Given the description of an element on the screen output the (x, y) to click on. 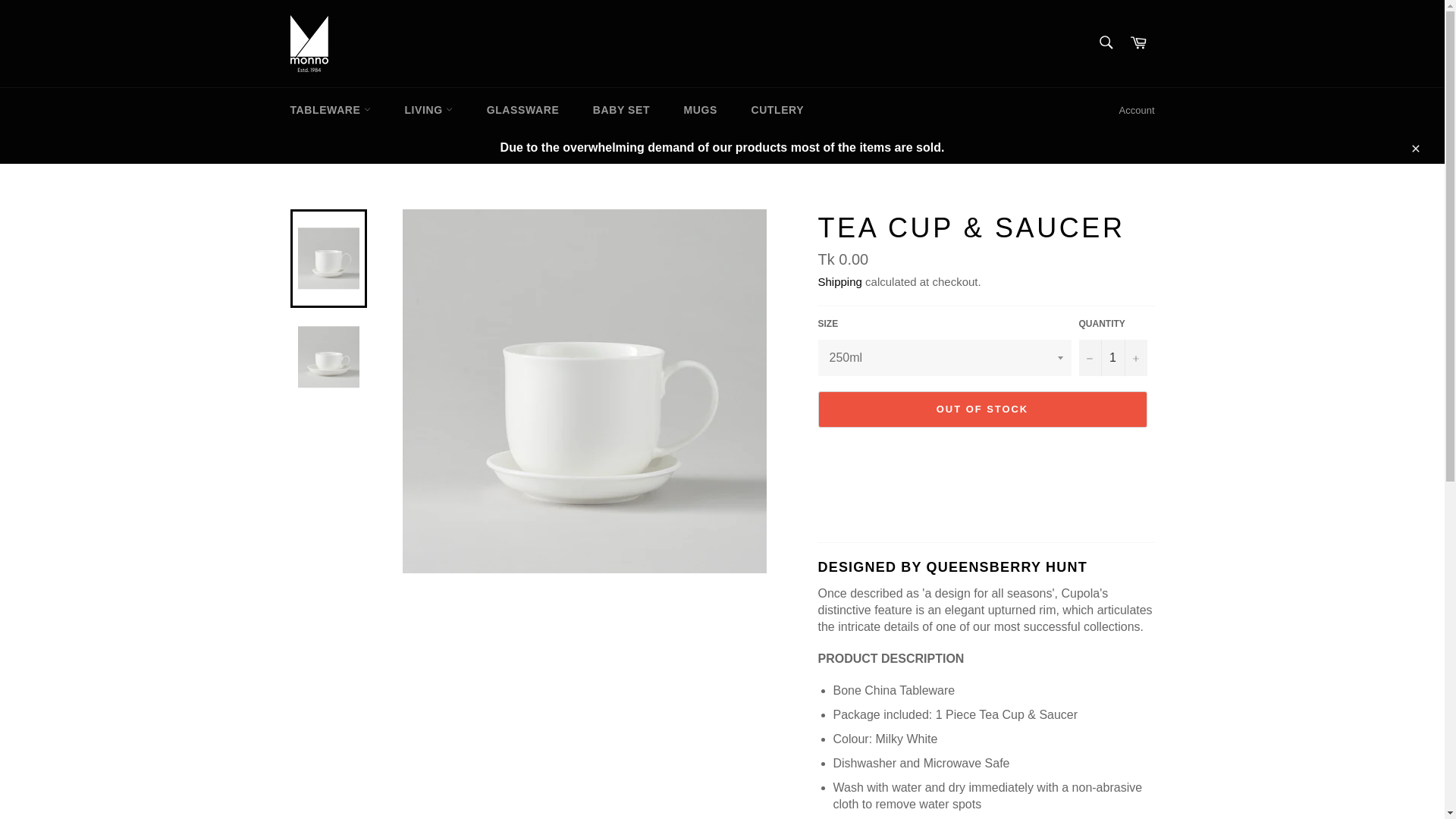
Search (1104, 42)
1 (1112, 357)
Cart (1138, 43)
TABLEWARE (330, 109)
